Given the description of an element on the screen output the (x, y) to click on. 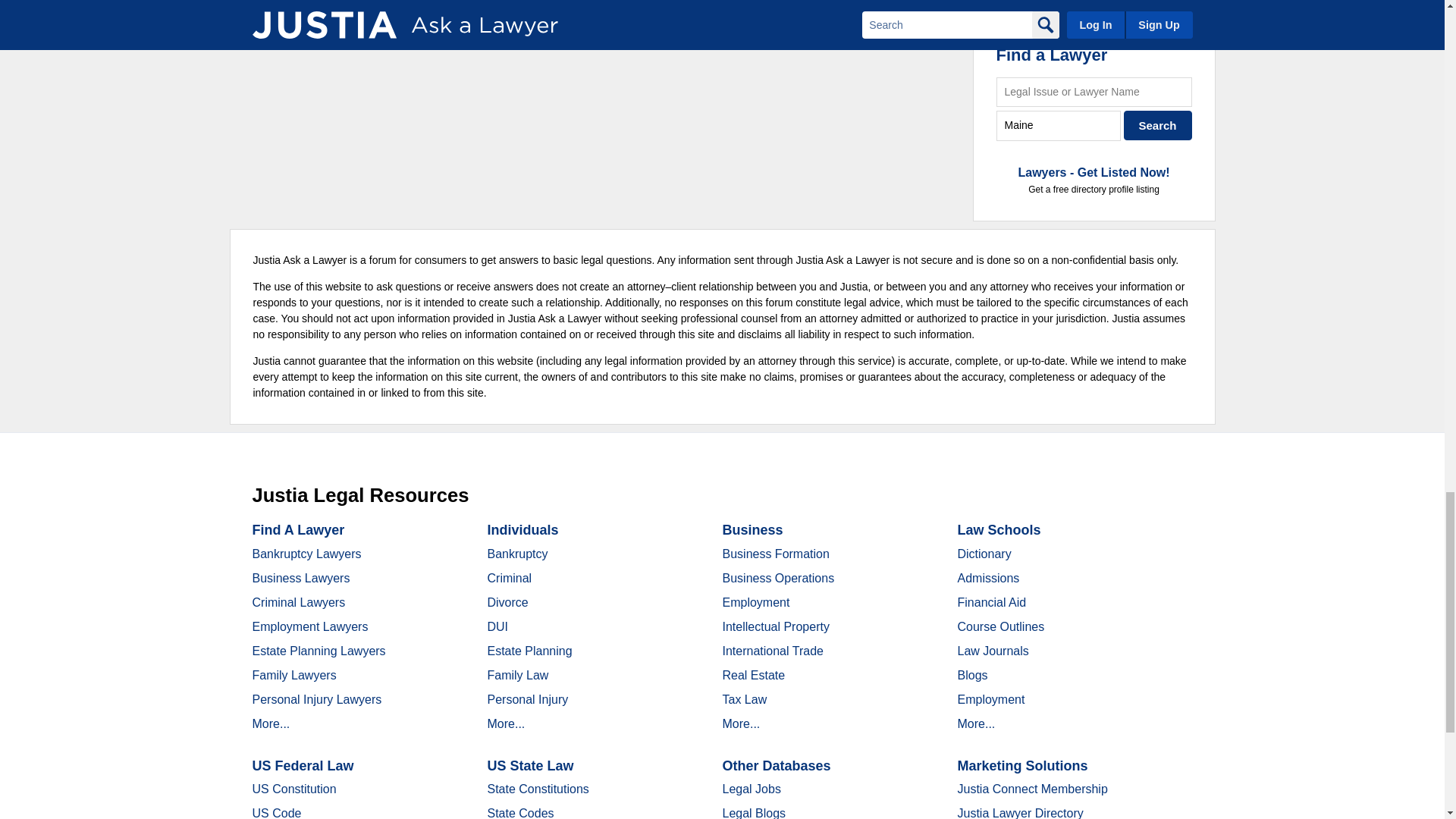
City, State (1058, 125)
Search (1158, 125)
Search (1158, 125)
Maine (1058, 125)
Legal Issue or Lawyer Name (1093, 91)
